Given the description of an element on the screen output the (x, y) to click on. 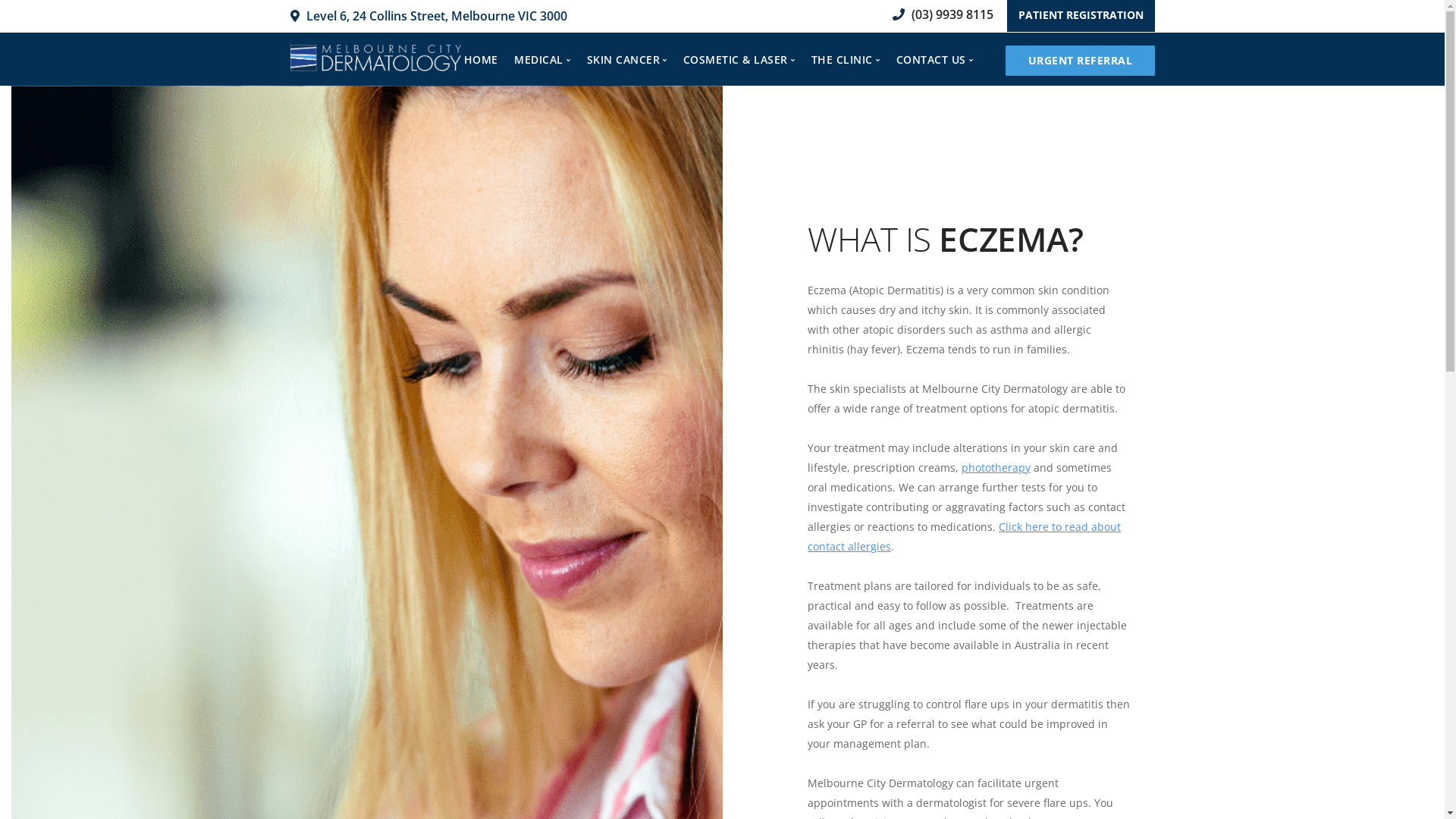
(03) 9939 8115 Element type: text (938, 14)
SKIN CANCER Element type: text (626, 59)
MEDICAL Element type: text (542, 59)
COSMETIC & LASER Element type: text (739, 59)
HOME Element type: text (481, 59)
CONTACT US Element type: text (934, 59)
Click here to read about contact allergies Element type: text (963, 536)
phototherapy Element type: text (995, 467)
URGENT REFERRAL Element type: text (1079, 60)
THE CLINIC Element type: text (845, 59)
